Given the description of an element on the screen output the (x, y) to click on. 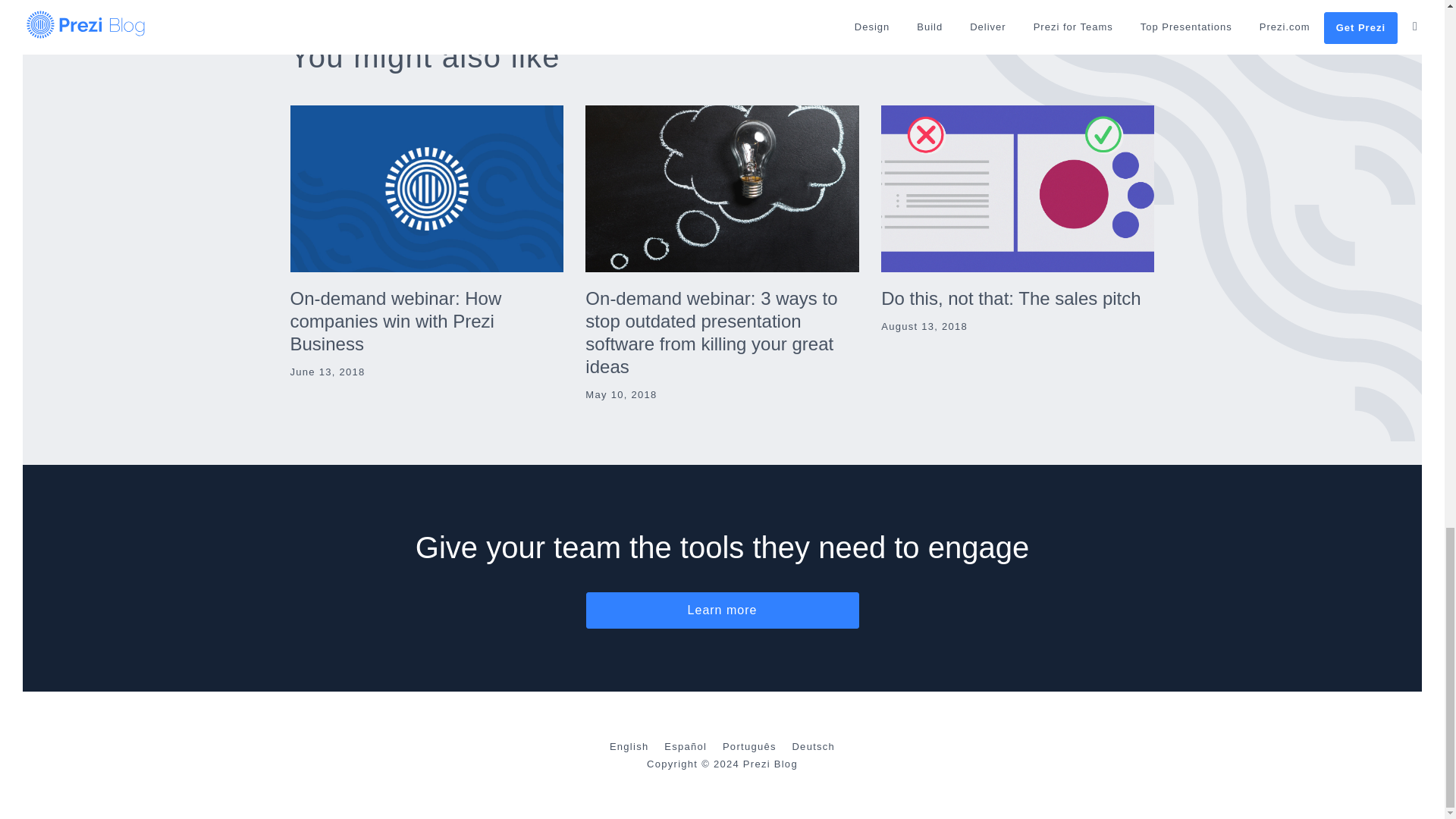
Learn more (722, 610)
Do this, not that: The sales pitch (1010, 298)
On-demand webinar: How companies win with Prezi Business (394, 320)
English (629, 746)
